Given the description of an element on the screen output the (x, y) to click on. 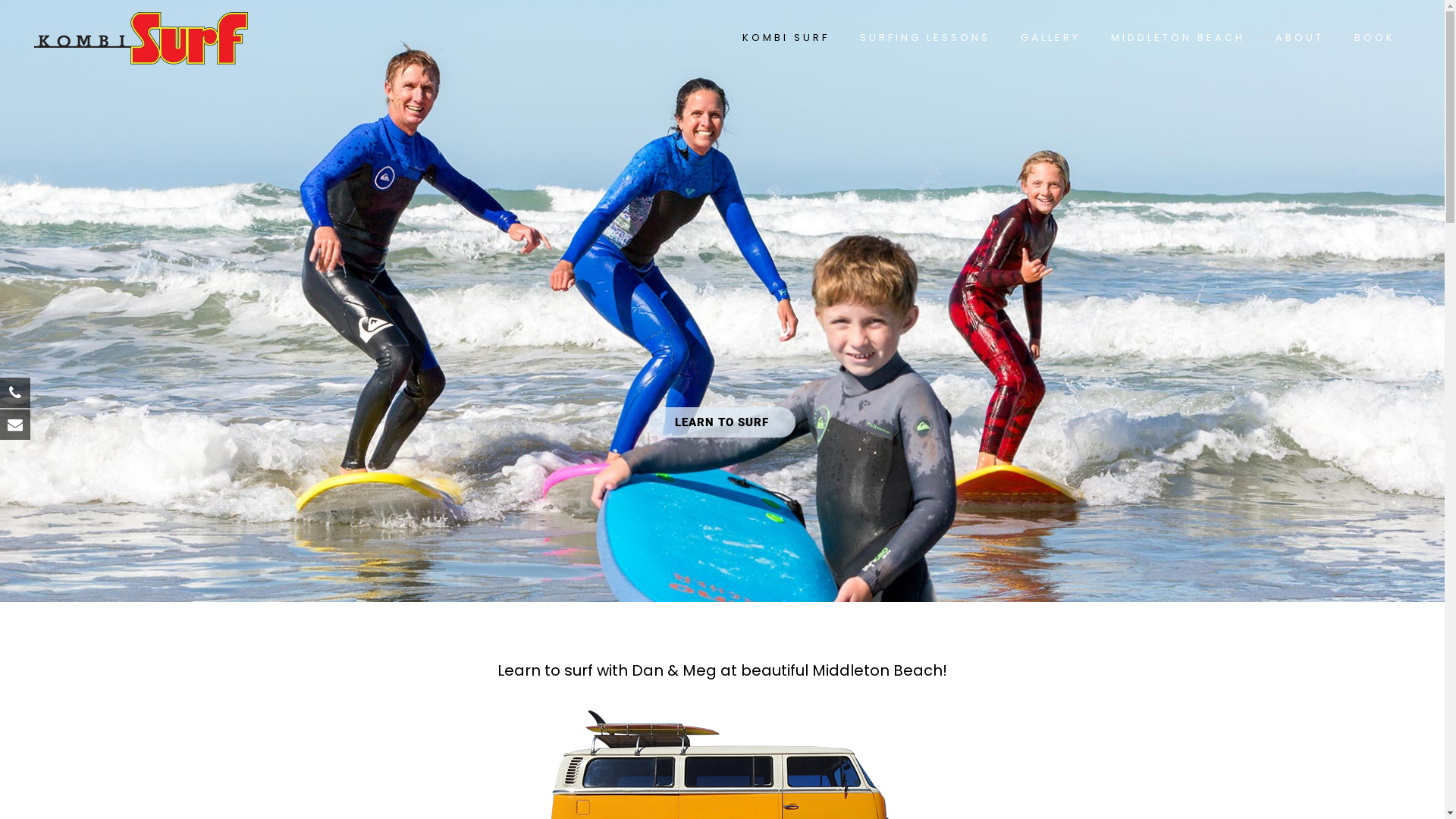
Social Share Element type: text (73, 330)
SURFING LESSONS Element type: text (924, 37)
BOOK Element type: text (1374, 37)
GALLERY Element type: text (1050, 37)
EMAIL Element type: text (73, 296)
CALL Element type: text (73, 262)
ABOUT Element type: text (1299, 37)
KOMBI SURF Element type: text (785, 37)
MIDDLETON BEACH Element type: text (1177, 37)
